Given the description of an element on the screen output the (x, y) to click on. 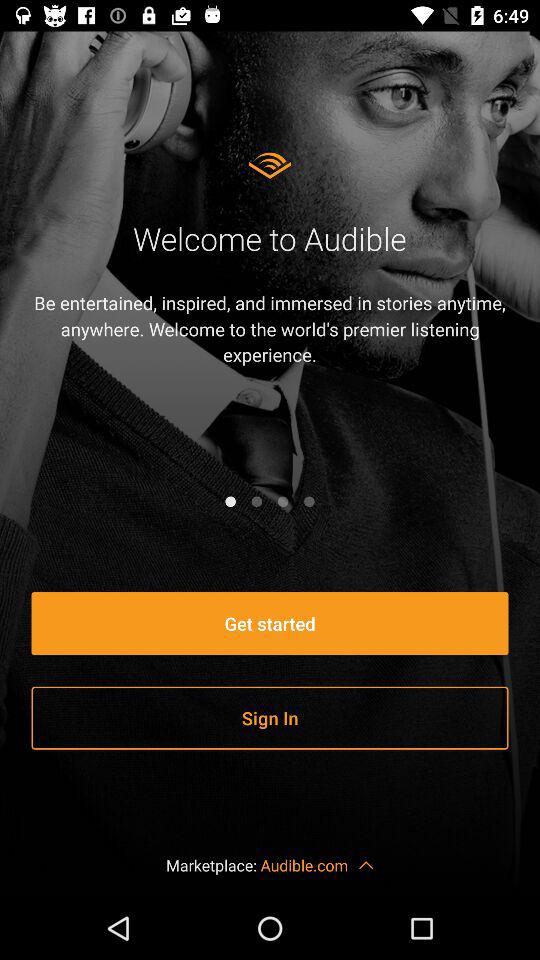
press sign in item (269, 717)
